Given the description of an element on the screen output the (x, y) to click on. 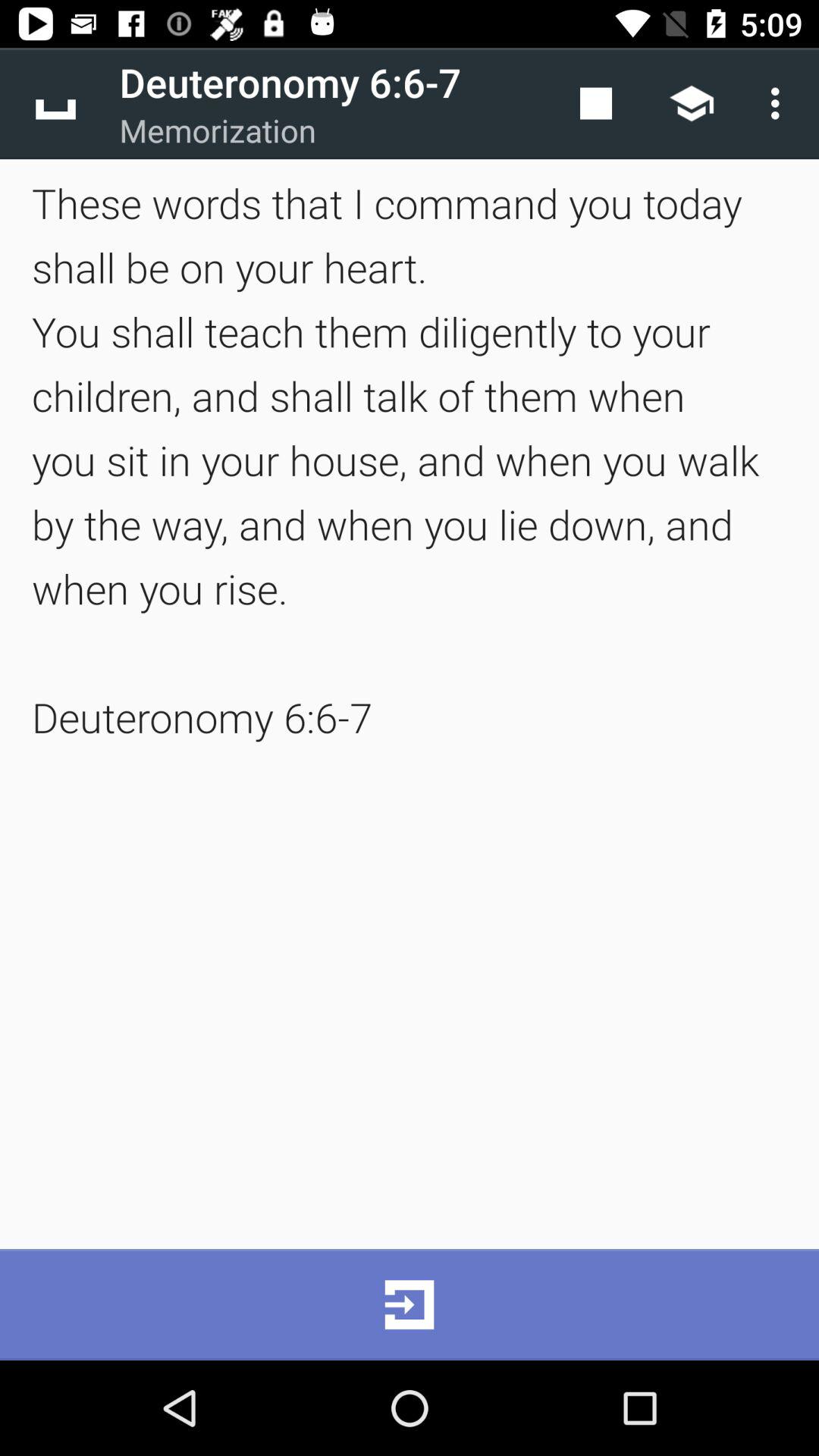
open the item below the these words that (409, 1304)
